Given the description of an element on the screen output the (x, y) to click on. 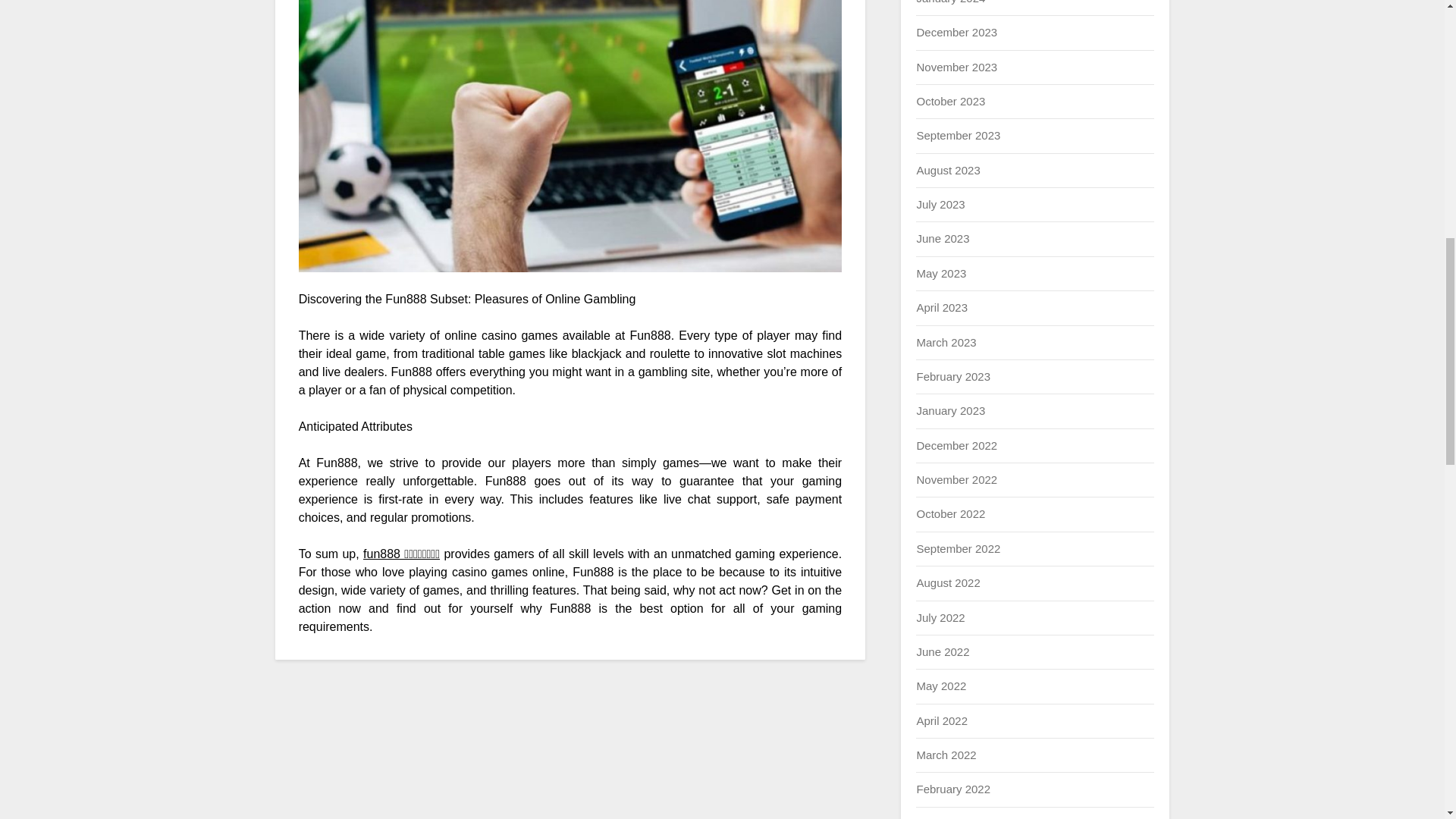
April 2023 (941, 307)
June 2022 (942, 651)
August 2022 (947, 582)
December 2022 (956, 445)
March 2023 (945, 341)
September 2023 (957, 134)
May 2023 (940, 273)
July 2022 (939, 617)
October 2023 (950, 101)
May 2022 (940, 685)
July 2023 (939, 204)
October 2022 (950, 513)
January 2024 (950, 2)
June 2023 (942, 237)
January 2023 (950, 410)
